Given the description of an element on the screen output the (x, y) to click on. 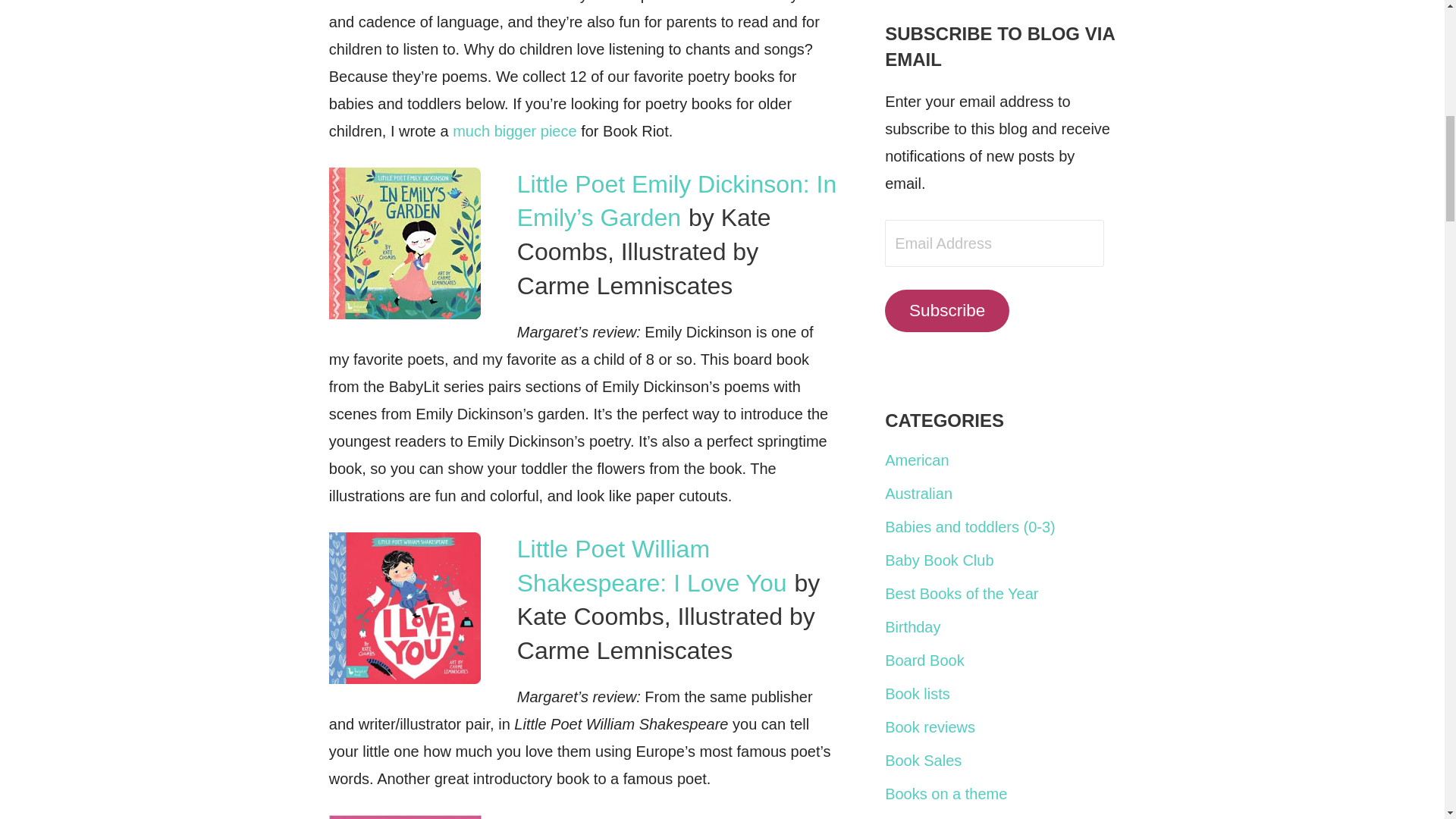
much bigger piece (514, 130)
Little Poet William Shakespeare: I Love You (651, 566)
